Given the description of an element on the screen output the (x, y) to click on. 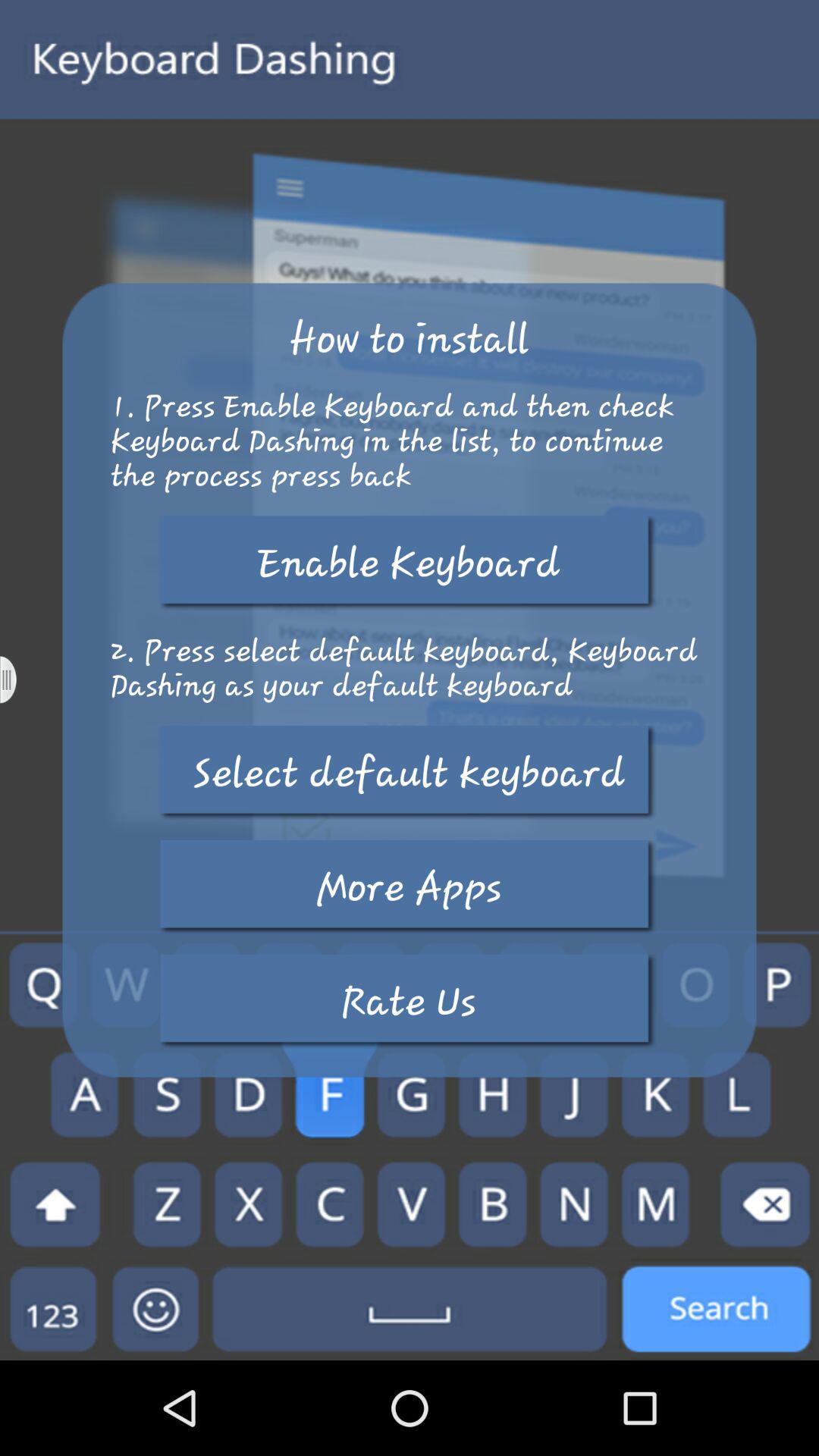
select rate us item (409, 1001)
